Given the description of an element on the screen output the (x, y) to click on. 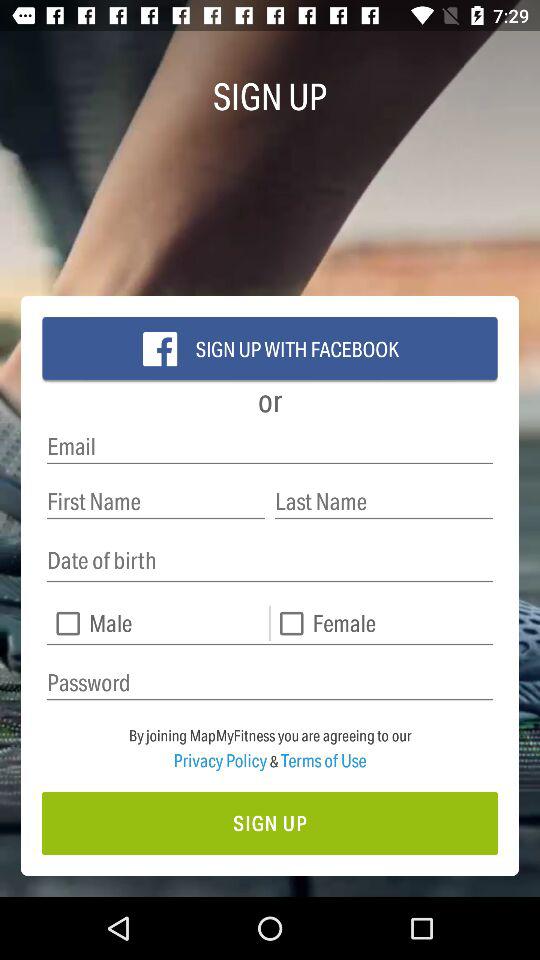
create your last name (384, 501)
